Given the description of an element on the screen output the (x, y) to click on. 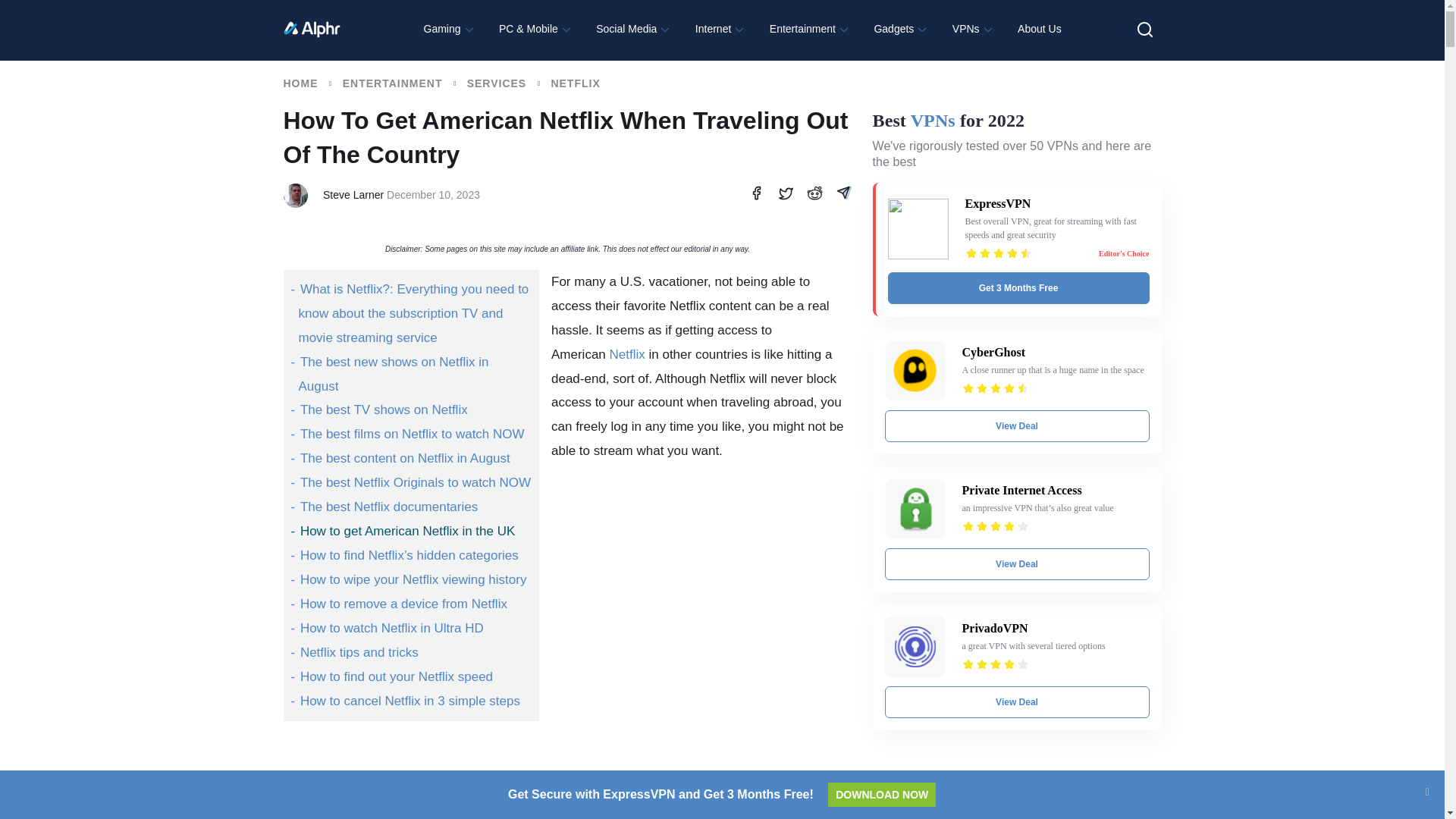
Author Steve Larner (353, 194)
DOWNLOAD NOW (882, 794)
